Given the description of an element on the screen output the (x, y) to click on. 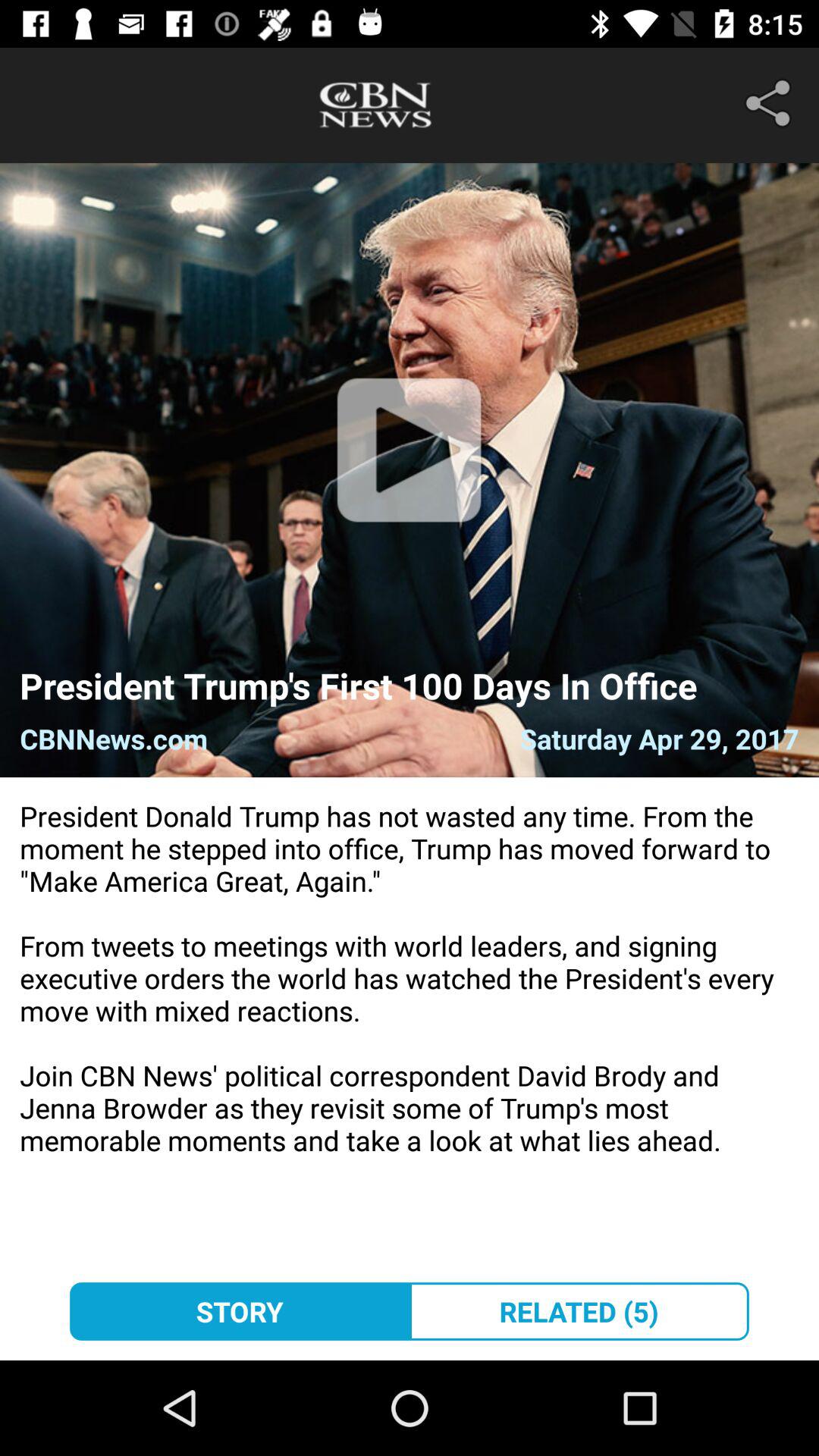
select the story at the bottom left corner (239, 1311)
